Given the description of an element on the screen output the (x, y) to click on. 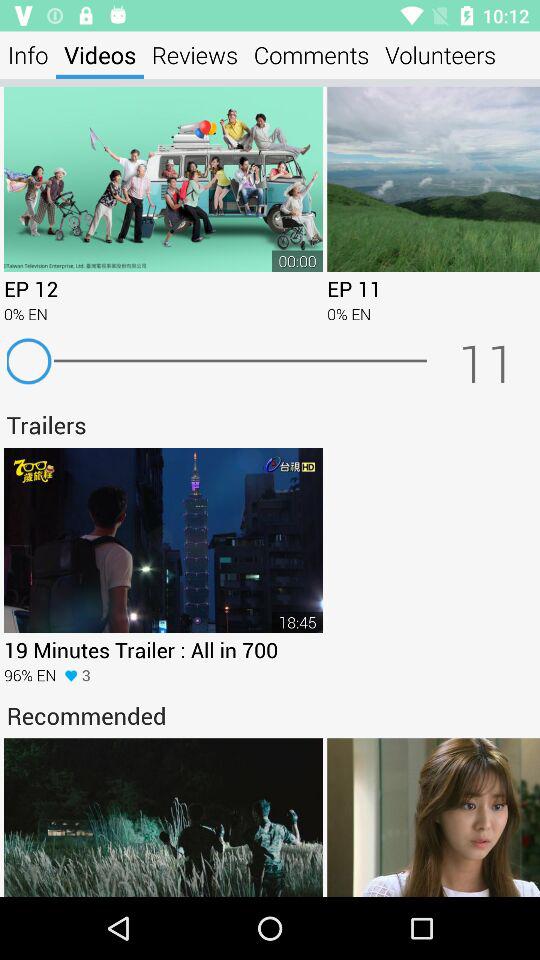
choose item next to the comments app (195, 54)
